Given the description of an element on the screen output the (x, y) to click on. 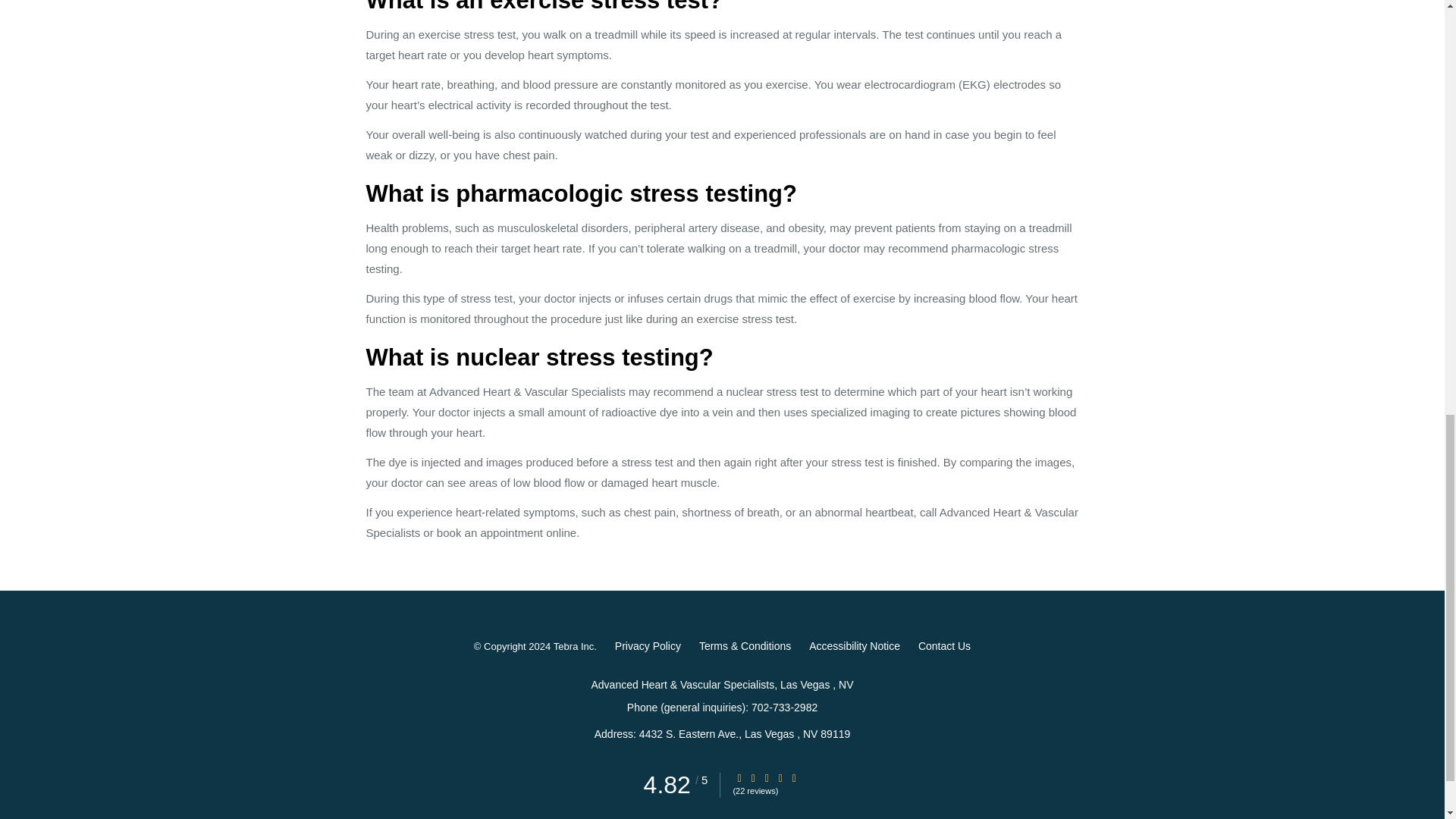
Star Rating (753, 778)
Star Rating (794, 778)
Star Rating (766, 778)
Star Rating (780, 778)
Star Rating (738, 778)
